Given the description of an element on the screen output the (x, y) to click on. 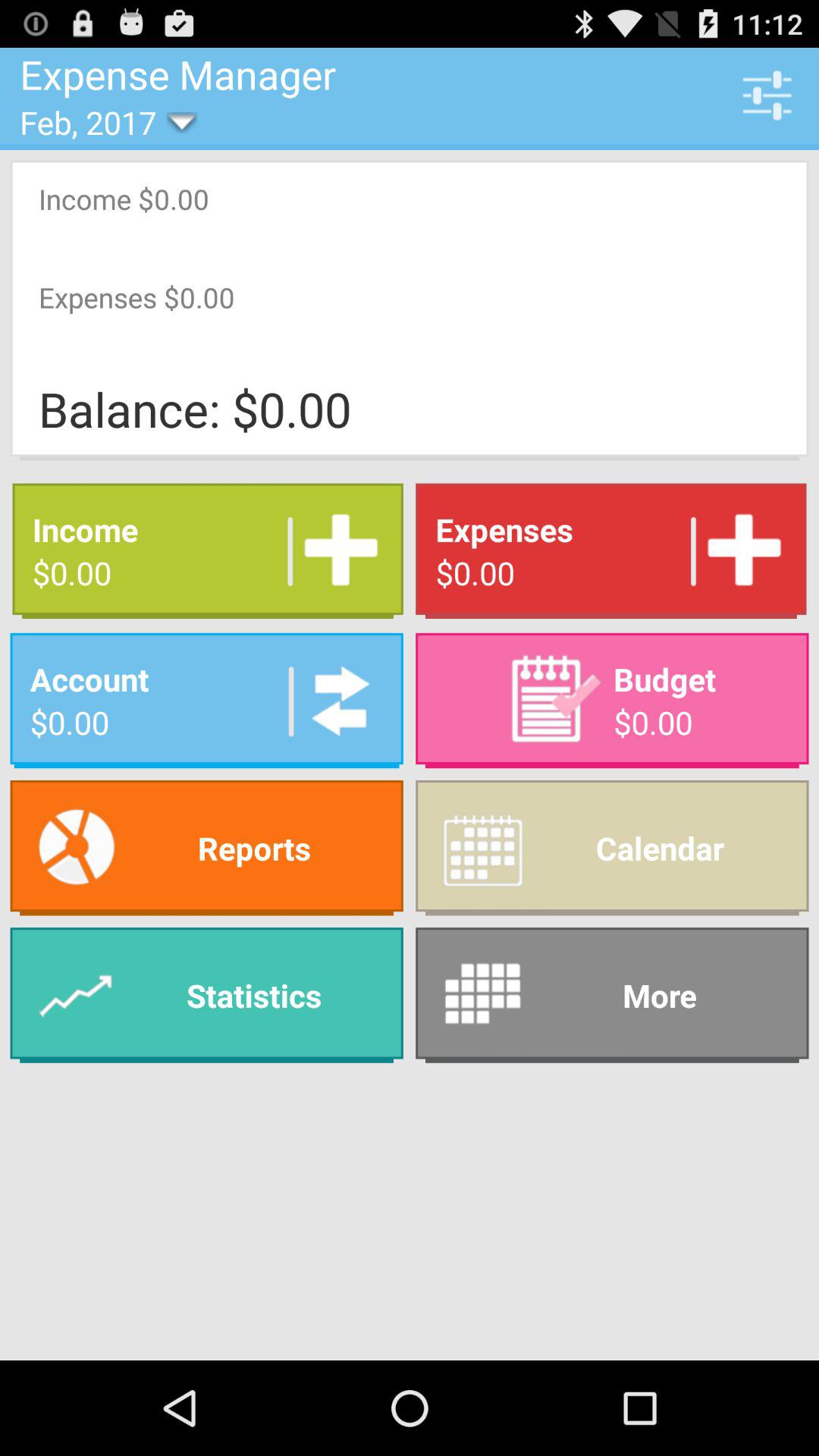
advertisement money to account (335, 700)
